Given the description of an element on the screen output the (x, y) to click on. 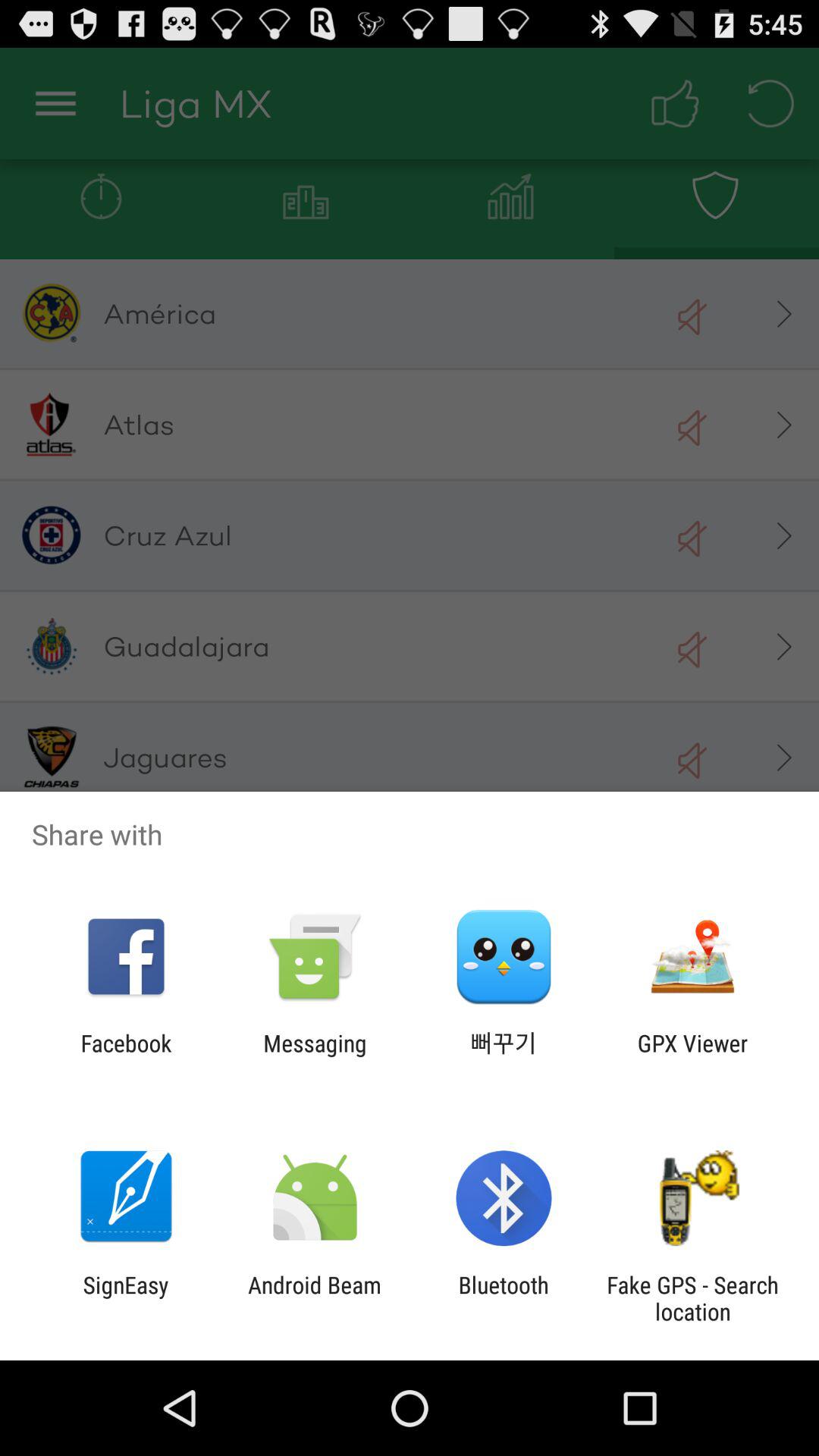
launch the app next to the android beam item (125, 1298)
